Given the description of an element on the screen output the (x, y) to click on. 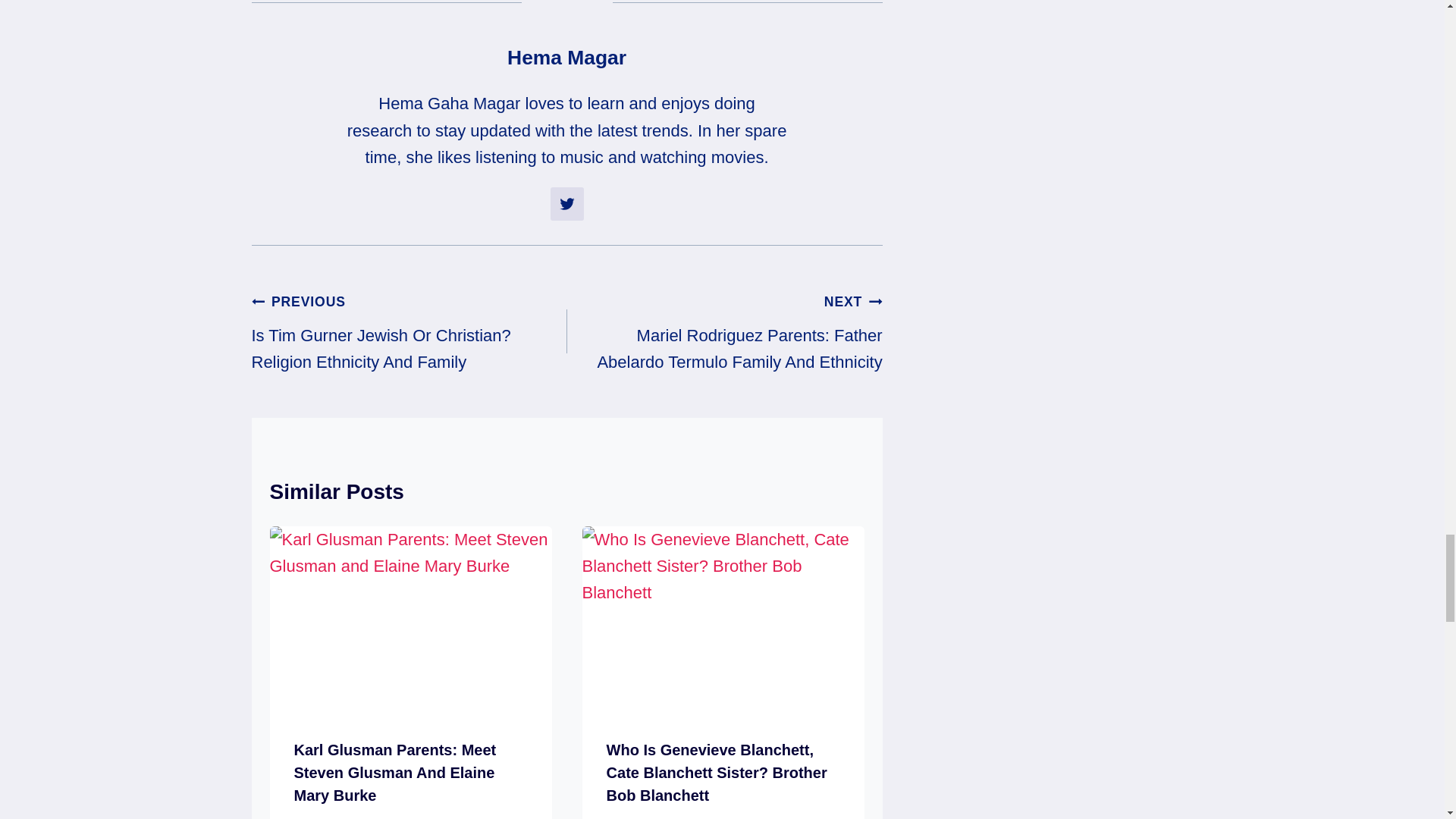
Posts by Hema Magar (566, 56)
Follow Hema Magar on Twitter (566, 203)
Hema Magar (566, 56)
